Given the description of an element on the screen output the (x, y) to click on. 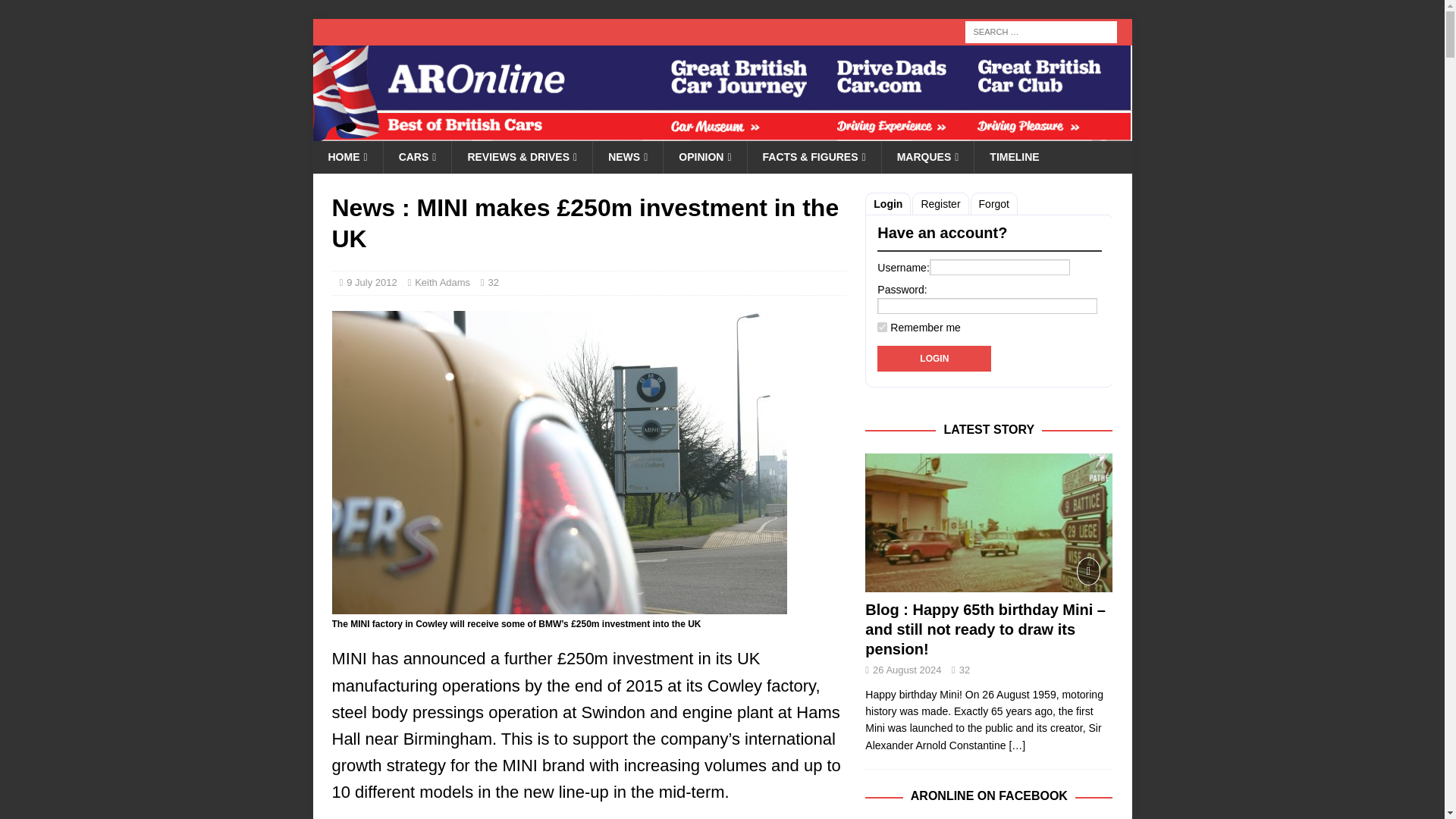
forever (881, 327)
AROnline model histories (416, 156)
AROnline (722, 132)
Search (56, 11)
Login (934, 358)
